Given the description of an element on the screen output the (x, y) to click on. 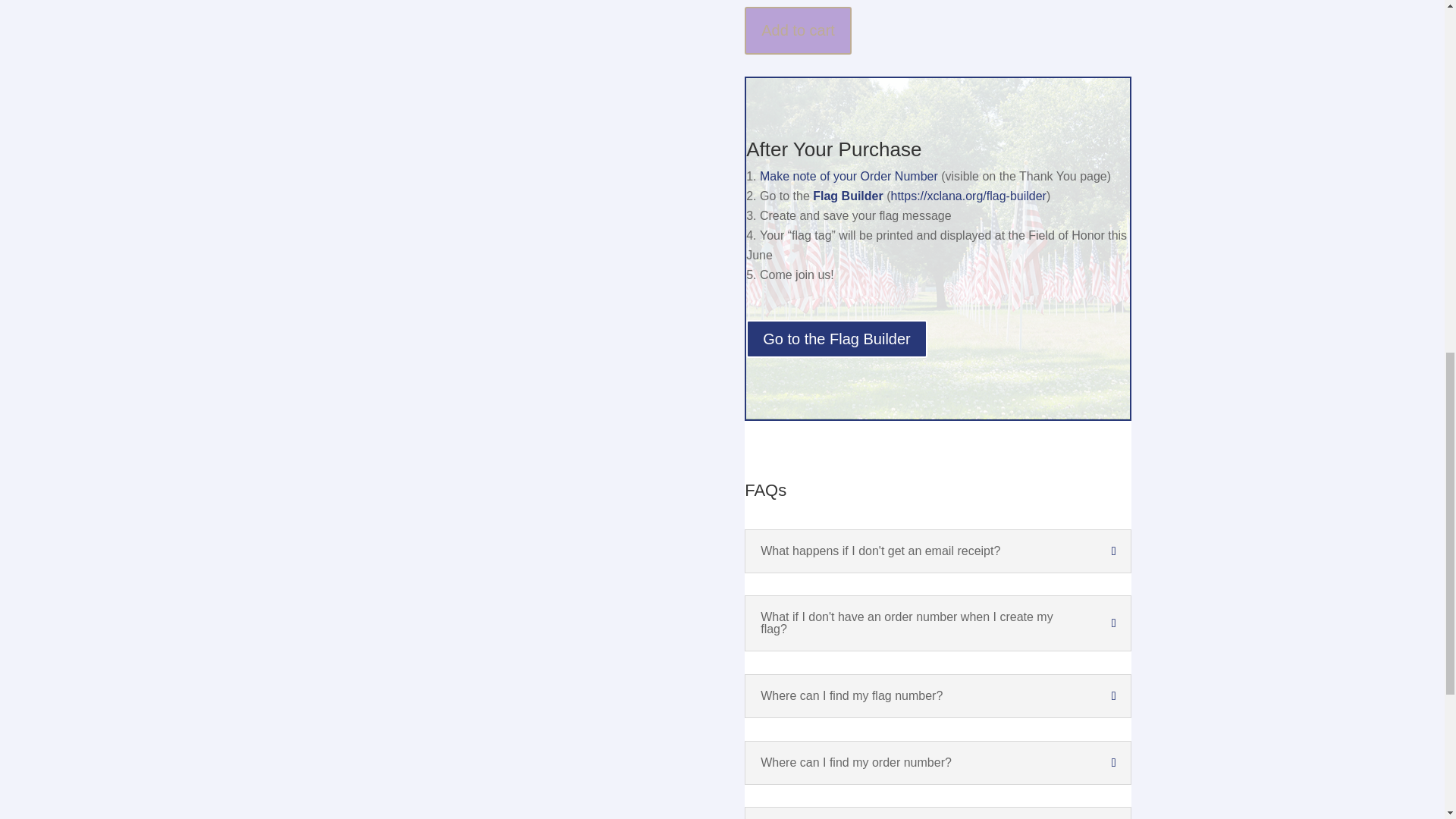
Go to the Flag Builder (836, 338)
Add to cart (797, 30)
Make note of your Order Number (848, 175)
Flag Builder (847, 195)
